Given the description of an element on the screen output the (x, y) to click on. 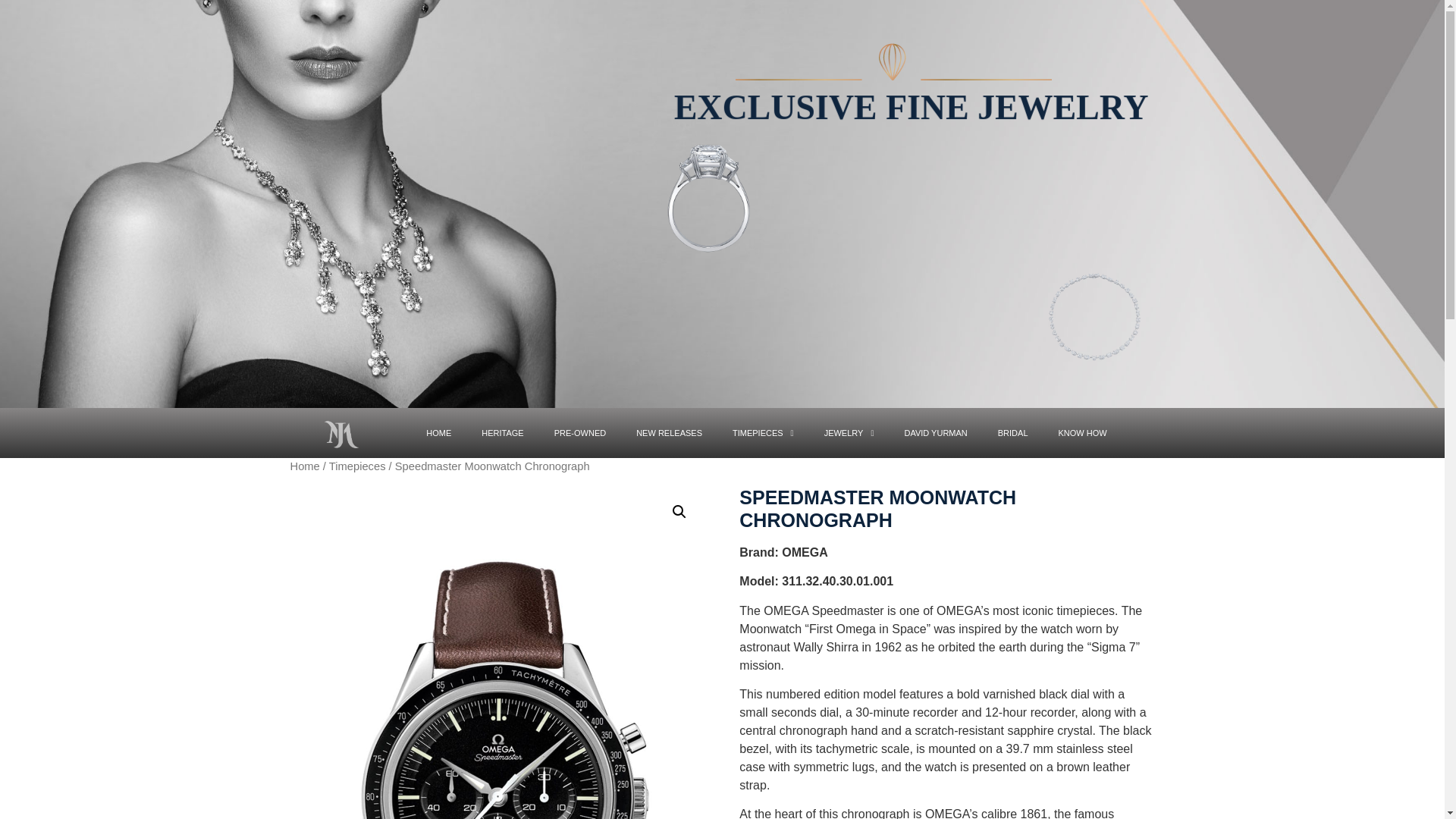
BRIDAL (1012, 432)
KNOW HOW (1082, 432)
HERITAGE (501, 432)
DAVID YURMAN (934, 432)
PRE-OWNED (579, 432)
TIMEPIECES (763, 432)
HOME (437, 432)
NEW RELEASES (669, 432)
JEWELRY (849, 432)
